Given the description of an element on the screen output the (x, y) to click on. 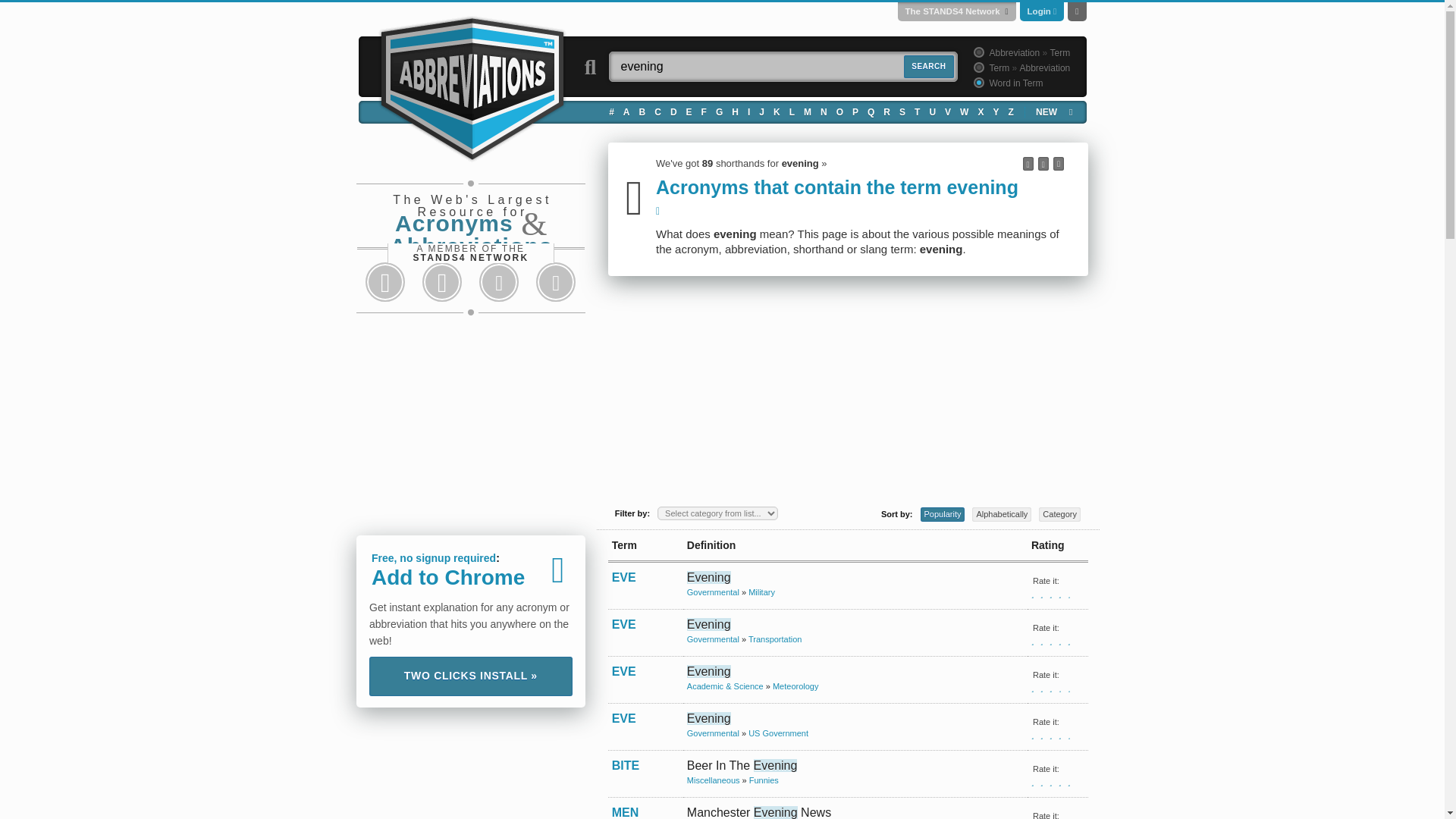
2 (976, 67)
evening (782, 66)
Share this page on Twitter (441, 282)
Abbreviations.com (471, 86)
SEARCH (928, 66)
evening (782, 66)
Share this page on Reddit (498, 282)
Share this page on Facebook (384, 282)
1 (976, 51)
Login (1039, 10)
